Given the description of an element on the screen output the (x, y) to click on. 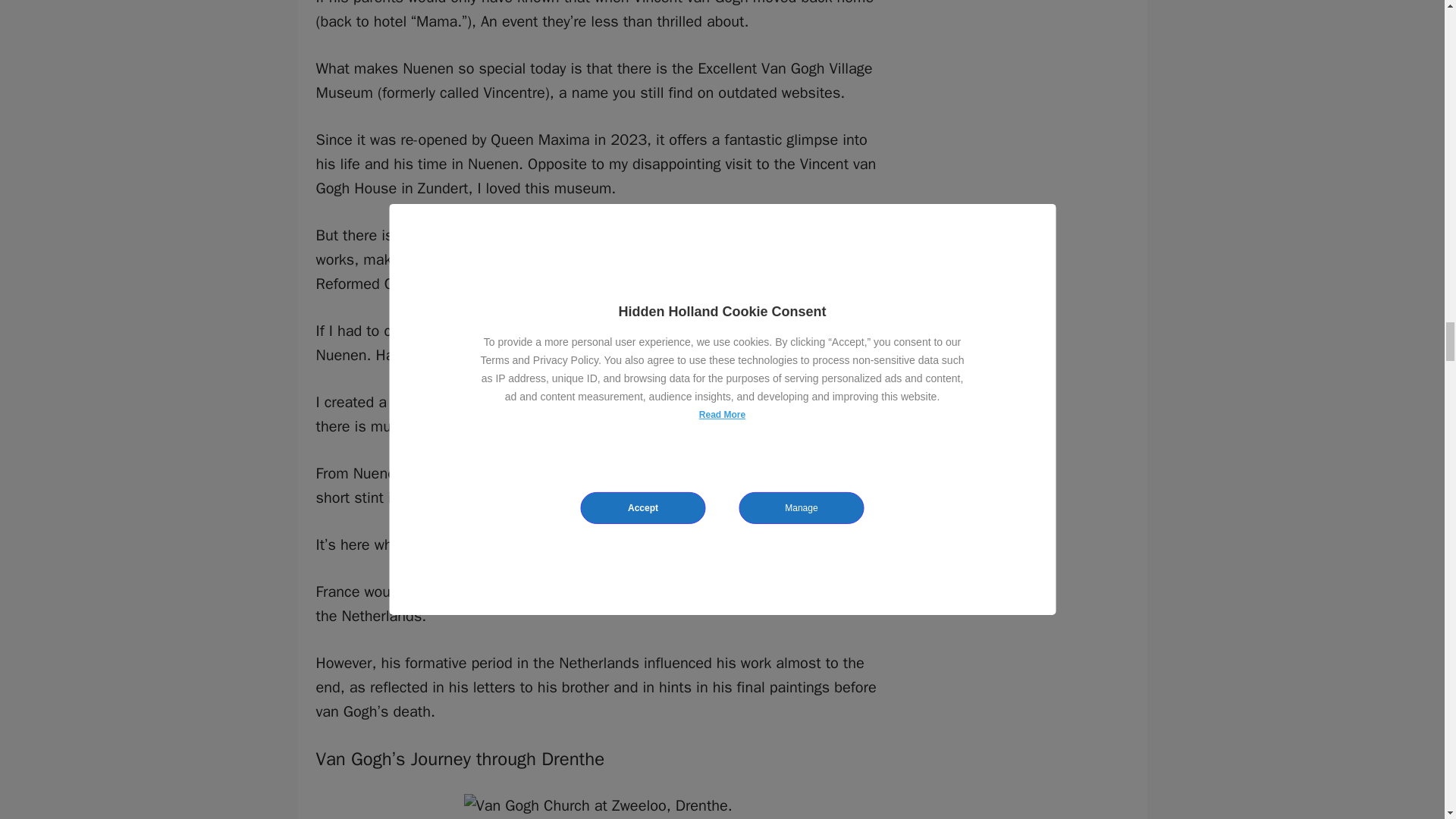
zweeloo-church (598, 805)
